Given the description of an element on the screen output the (x, y) to click on. 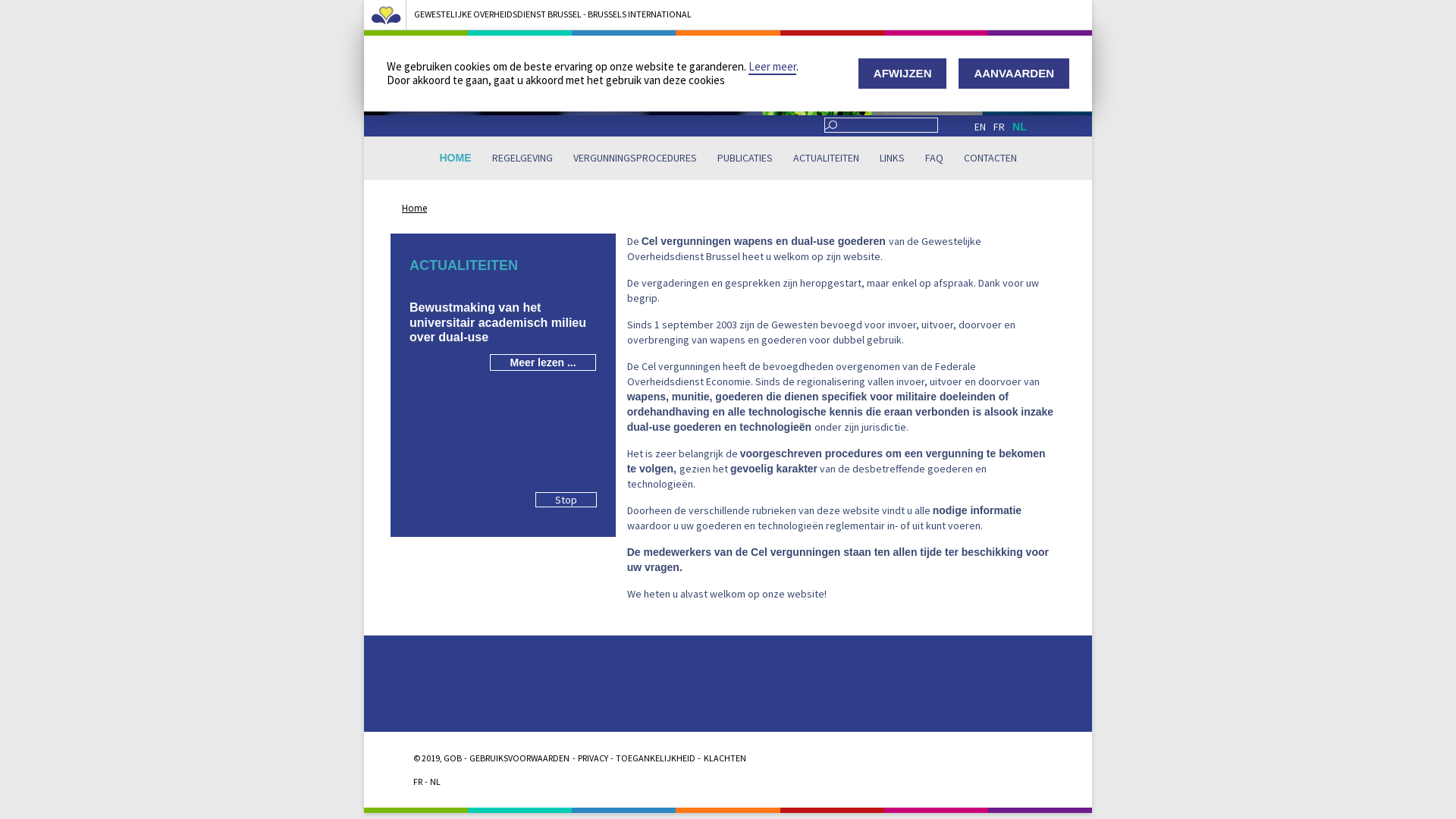
VERGUNNINGSPROCEDURES Element type: text (634, 157)
AFWIJZEN Element type: text (902, 73)
GEBRUIKSVOORWAARDEN Element type: text (519, 758)
Leer meer Element type: text (772, 67)
ACTUALITEITEN Element type: text (826, 157)
NL Element type: text (1019, 126)
KLACHTEN Element type: text (724, 758)
REGELGEVING Element type: text (521, 157)
CONTACTEN Element type: text (989, 157)
TOEGANKELIJKHEID Element type: text (655, 758)
PUBLICATIES Element type: text (744, 157)
Meer lezen ... Element type: text (542, 362)
GEWESTELIJKE OVERHEIDSDIENST BRUSSEL Element type: text (497, 14)
FAQ Element type: text (934, 157)
NL Element type: text (434, 781)
Stop Element type: text (565, 499)
FR Element type: text (417, 781)
Home Element type: text (413, 208)
HOME Element type: text (455, 157)
PRIVACY Element type: text (592, 758)
EN Element type: text (979, 126)
FR Element type: text (998, 126)
BRUSSELS INTERNATIONAL Element type: text (639, 14)
AANVAARDEN Element type: text (1013, 73)
LINKS Element type: text (891, 157)
